Given the description of an element on the screen output the (x, y) to click on. 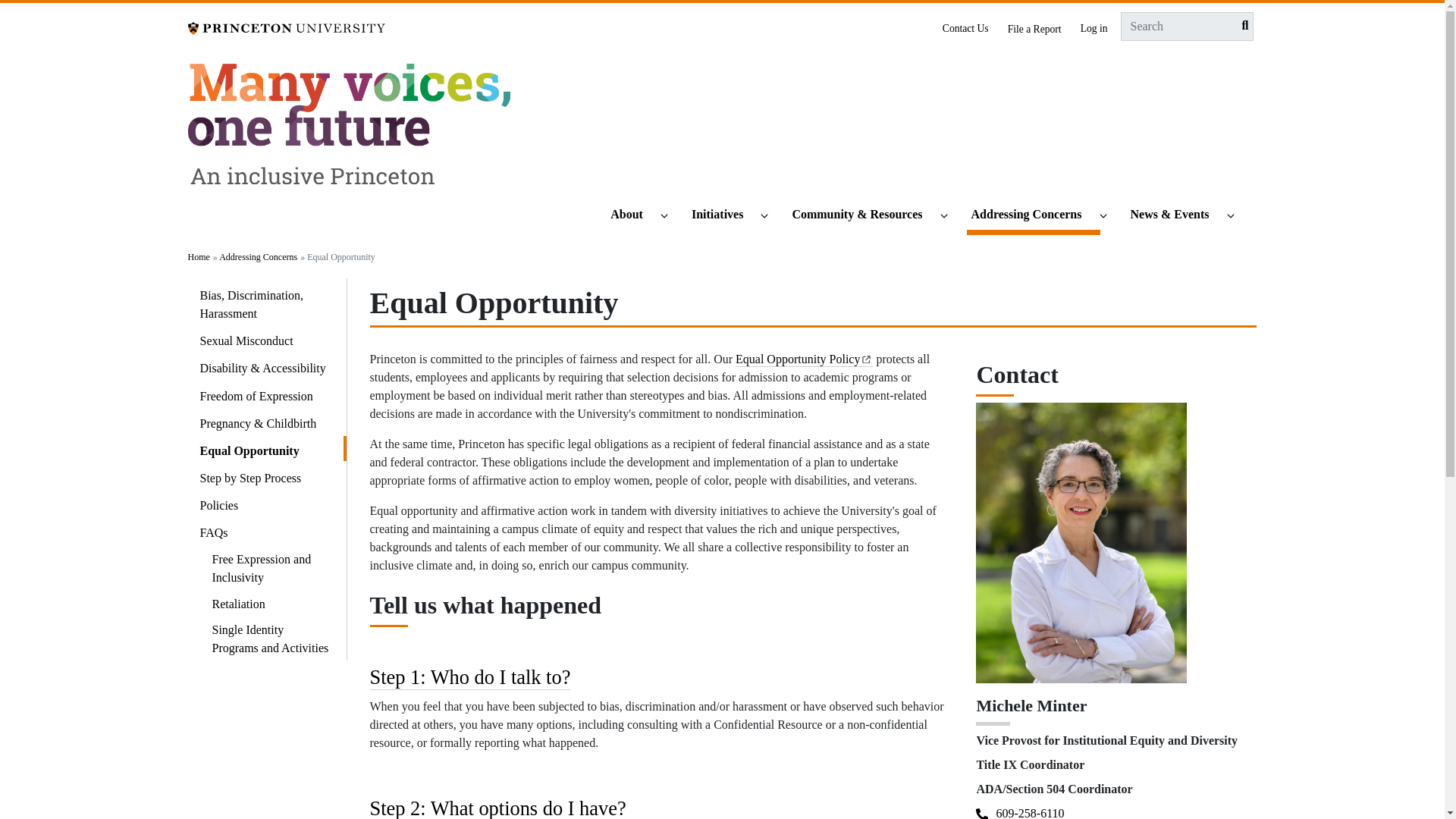
Home (349, 129)
About (633, 215)
Princeton University (286, 26)
Link is external (865, 356)
Submit (1240, 25)
Initiatives (724, 215)
